Given the description of an element on the screen output the (x, y) to click on. 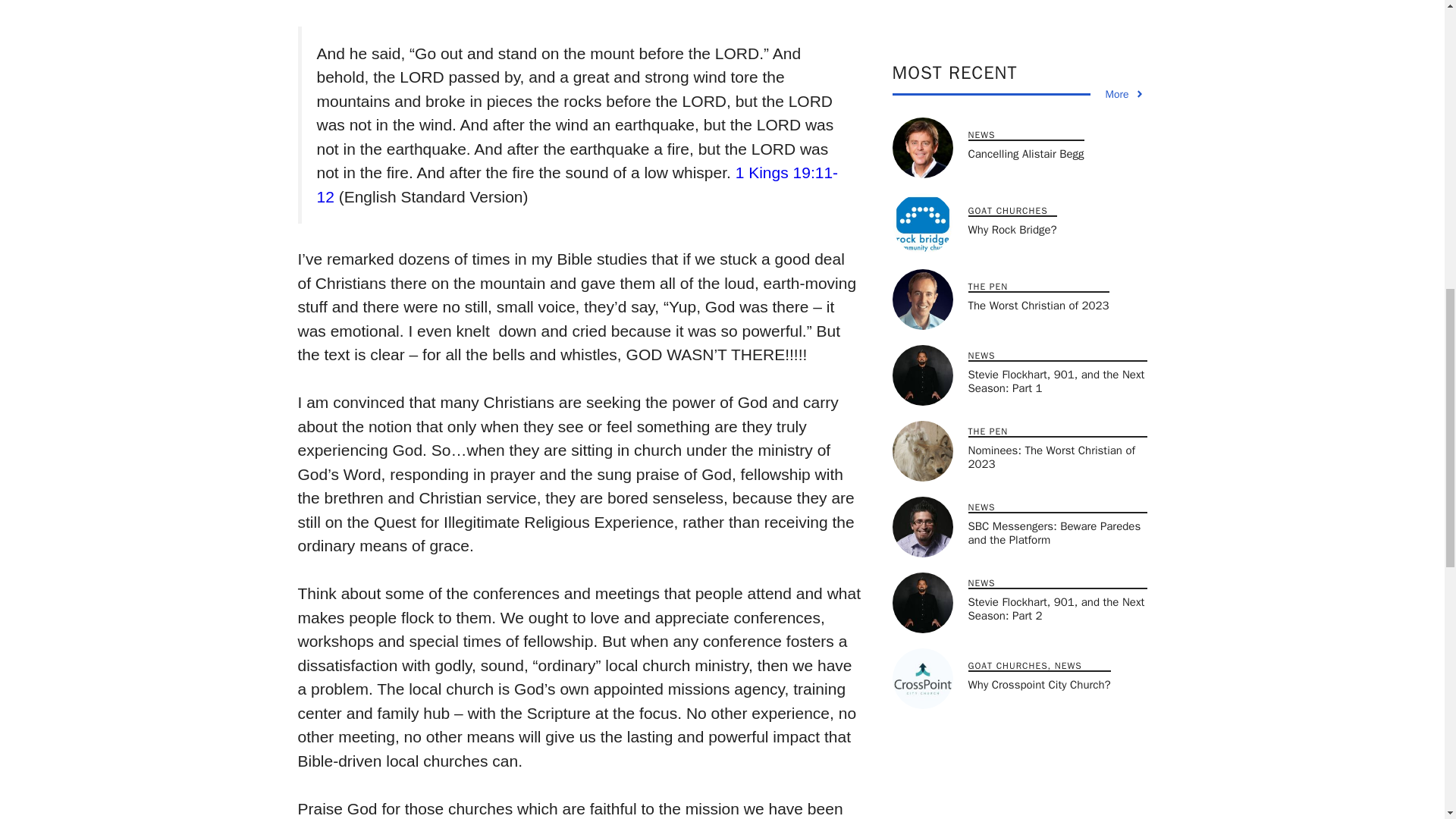
1 Kings 19:11-12 (577, 184)
